Given the description of an element on the screen output the (x, y) to click on. 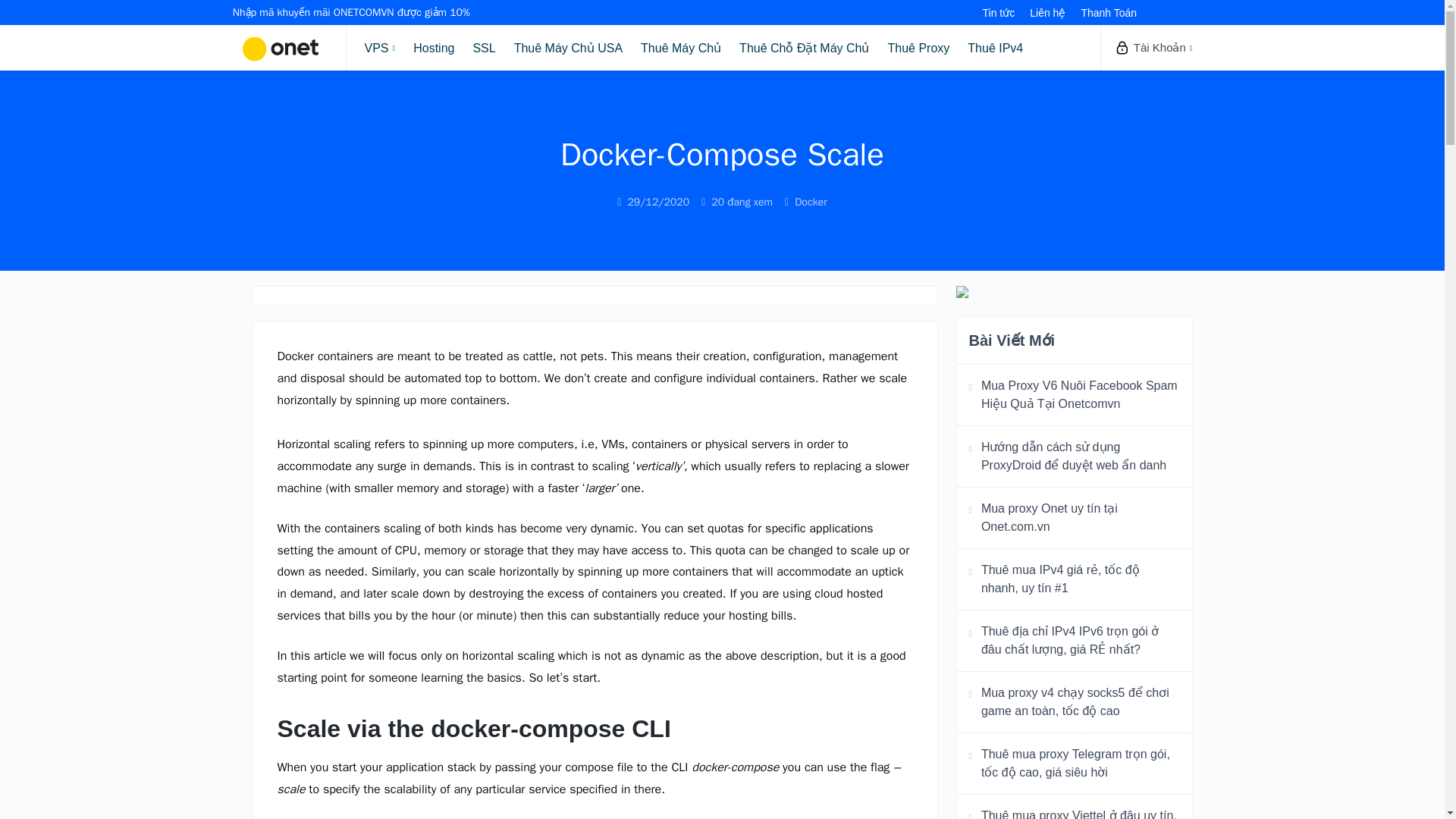
Docker (810, 201)
Hosting (433, 47)
VPS (379, 47)
SSL (483, 47)
